Given the description of an element on the screen output the (x, y) to click on. 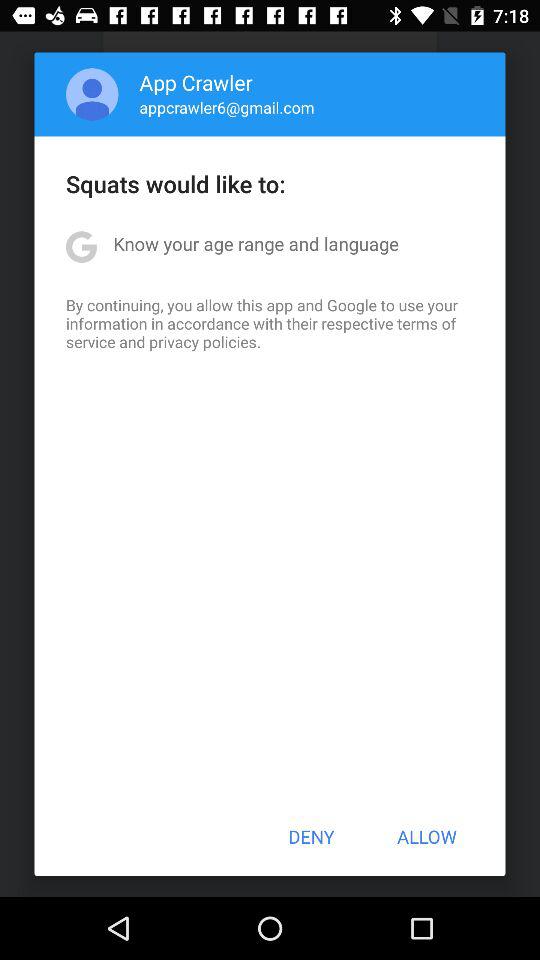
scroll until the deny item (311, 836)
